Given the description of an element on the screen output the (x, y) to click on. 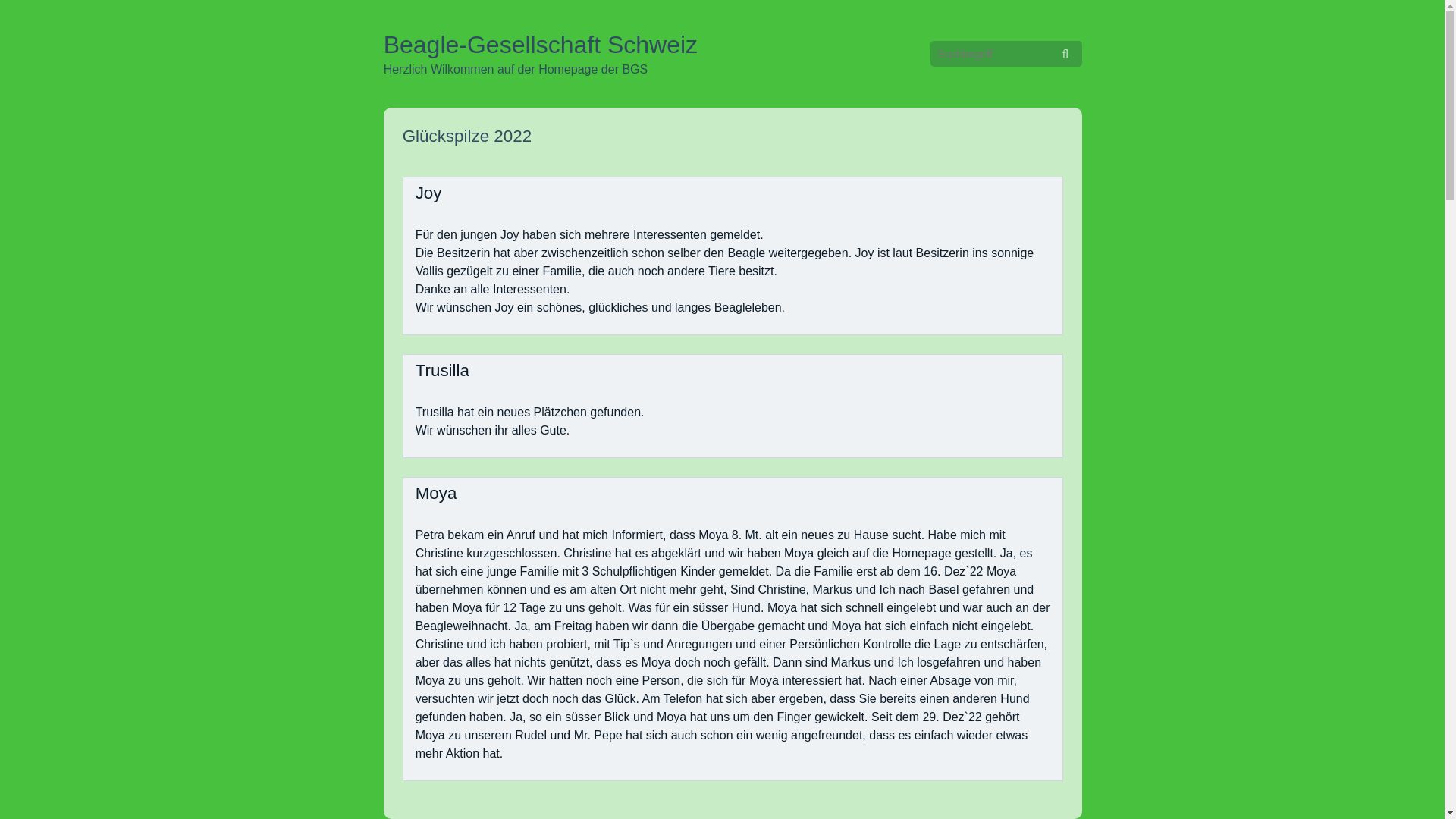
Beagle-Gesellschaft Schweiz Element type: text (540, 44)
